Given the description of an element on the screen output the (x, y) to click on. 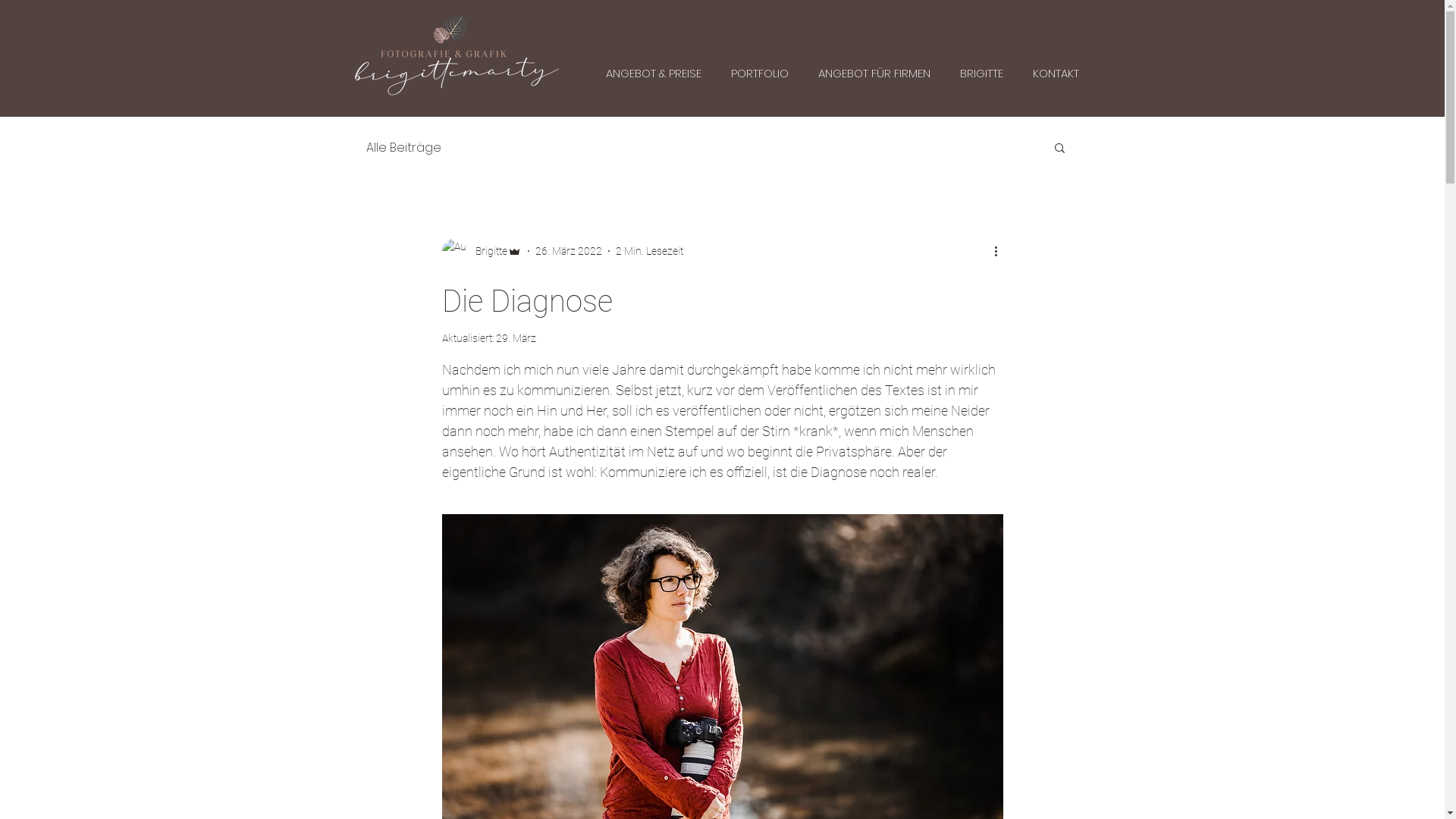
Brigitte Element type: text (480, 250)
KONTAKT Element type: text (1055, 72)
PORTFOLIO Element type: text (759, 72)
BRIGITTE Element type: text (980, 72)
